Given the description of an element on the screen output the (x, y) to click on. 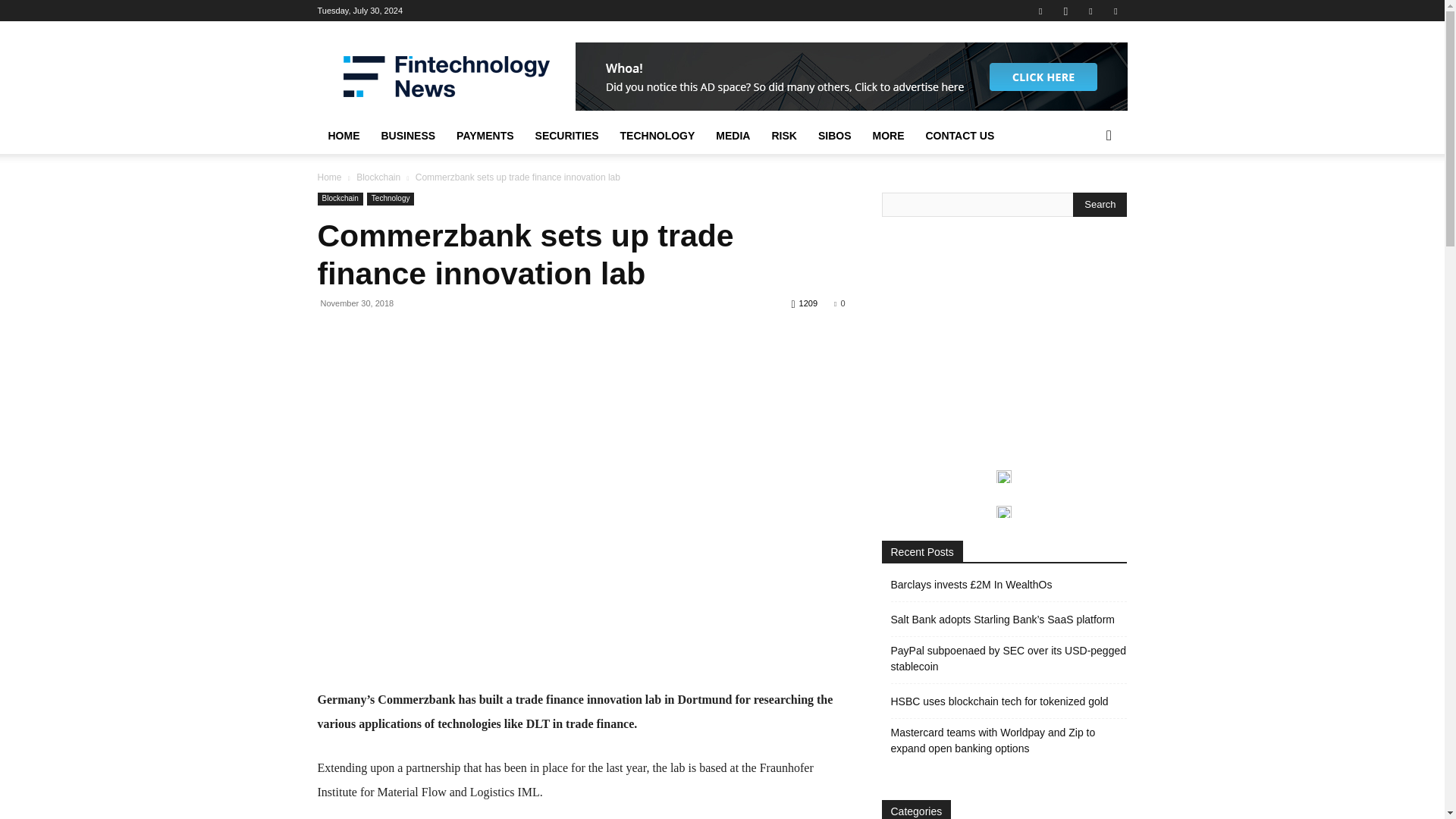
View all posts in Blockchain (378, 176)
Facebook (1040, 10)
Search (1099, 204)
Twitter (1114, 10)
BUSINESS (407, 135)
HOME (343, 135)
Linkedin (1090, 10)
RISK (783, 135)
MORE (887, 135)
SECURITIES (567, 135)
SIBOS (834, 135)
PAYMENTS (484, 135)
MEDIA (732, 135)
TECHNOLOGY (658, 135)
Instagram (1065, 10)
